Given the description of an element on the screen output the (x, y) to click on. 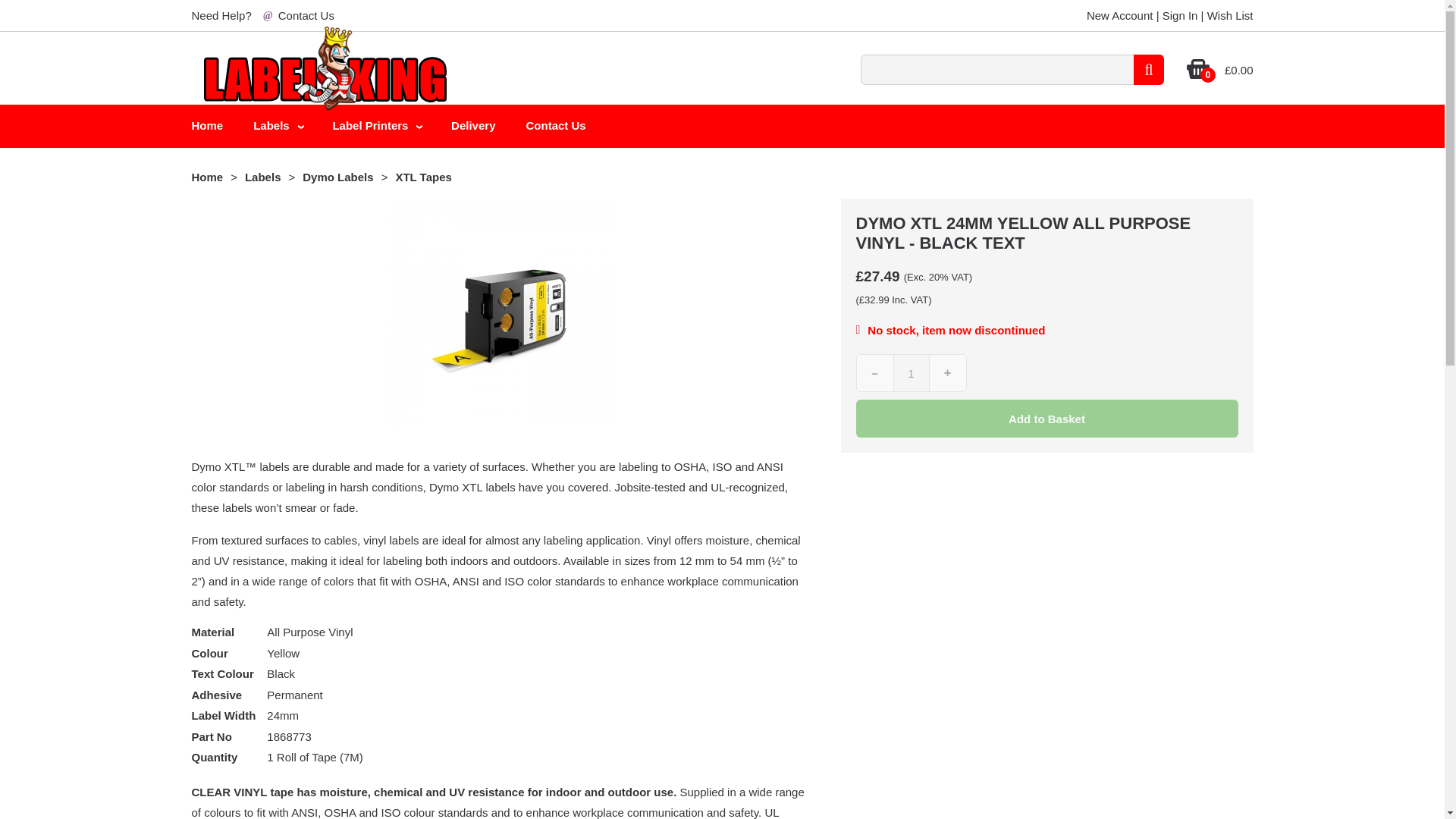
Label Printers (376, 126)
Contact Us (555, 125)
New Account (1119, 15)
Home (207, 125)
Contact Us (306, 15)
Delivery (473, 125)
XTL Tapes (422, 176)
1 (911, 372)
Home (206, 176)
Labels (277, 126)
Go (1148, 69)
Labels (277, 126)
Dymo Labels (337, 176)
Labels (262, 176)
0 (1197, 75)
